Given the description of an element on the screen output the (x, y) to click on. 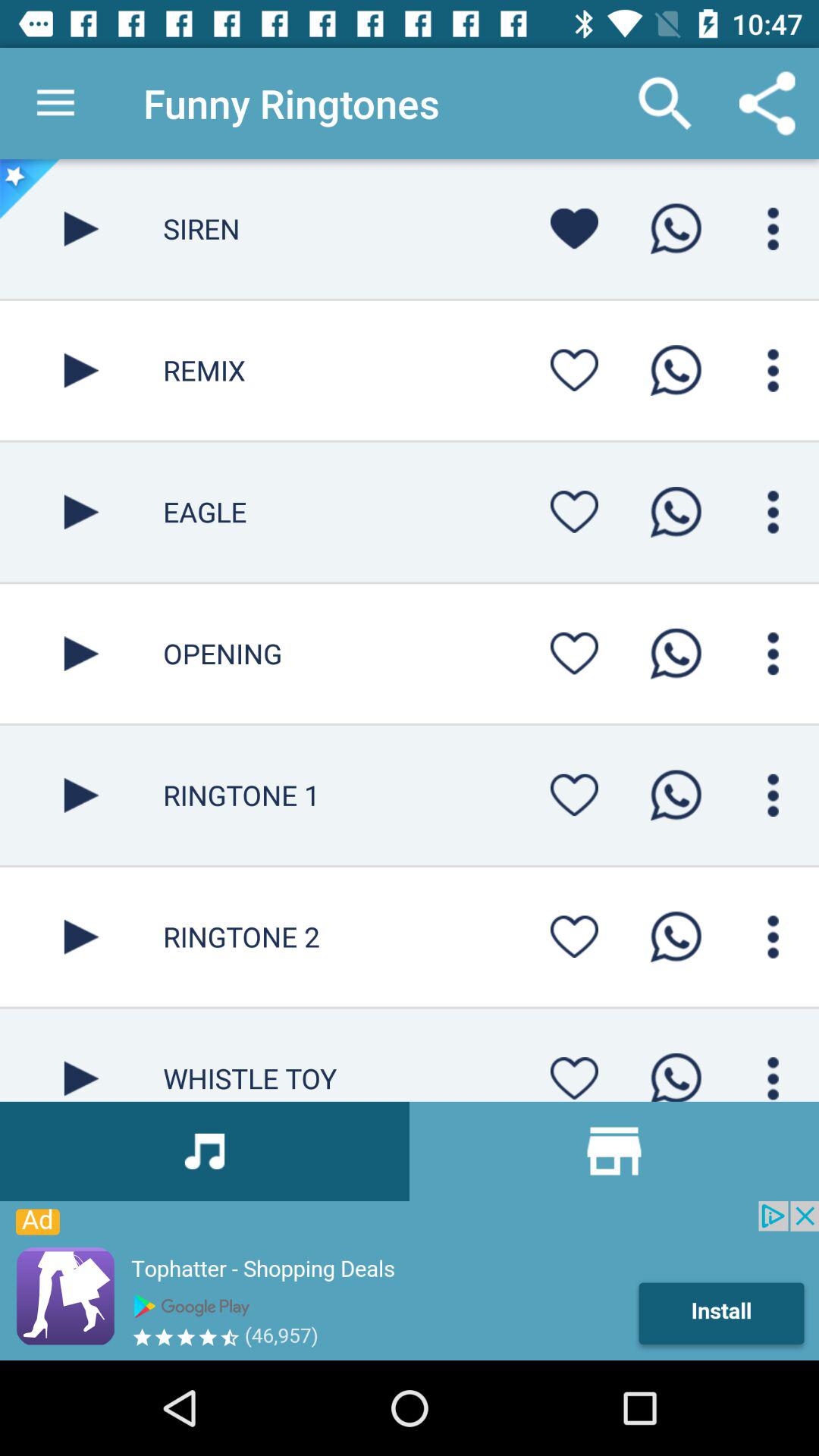
play song (81, 1054)
